Given the description of an element on the screen output the (x, y) to click on. 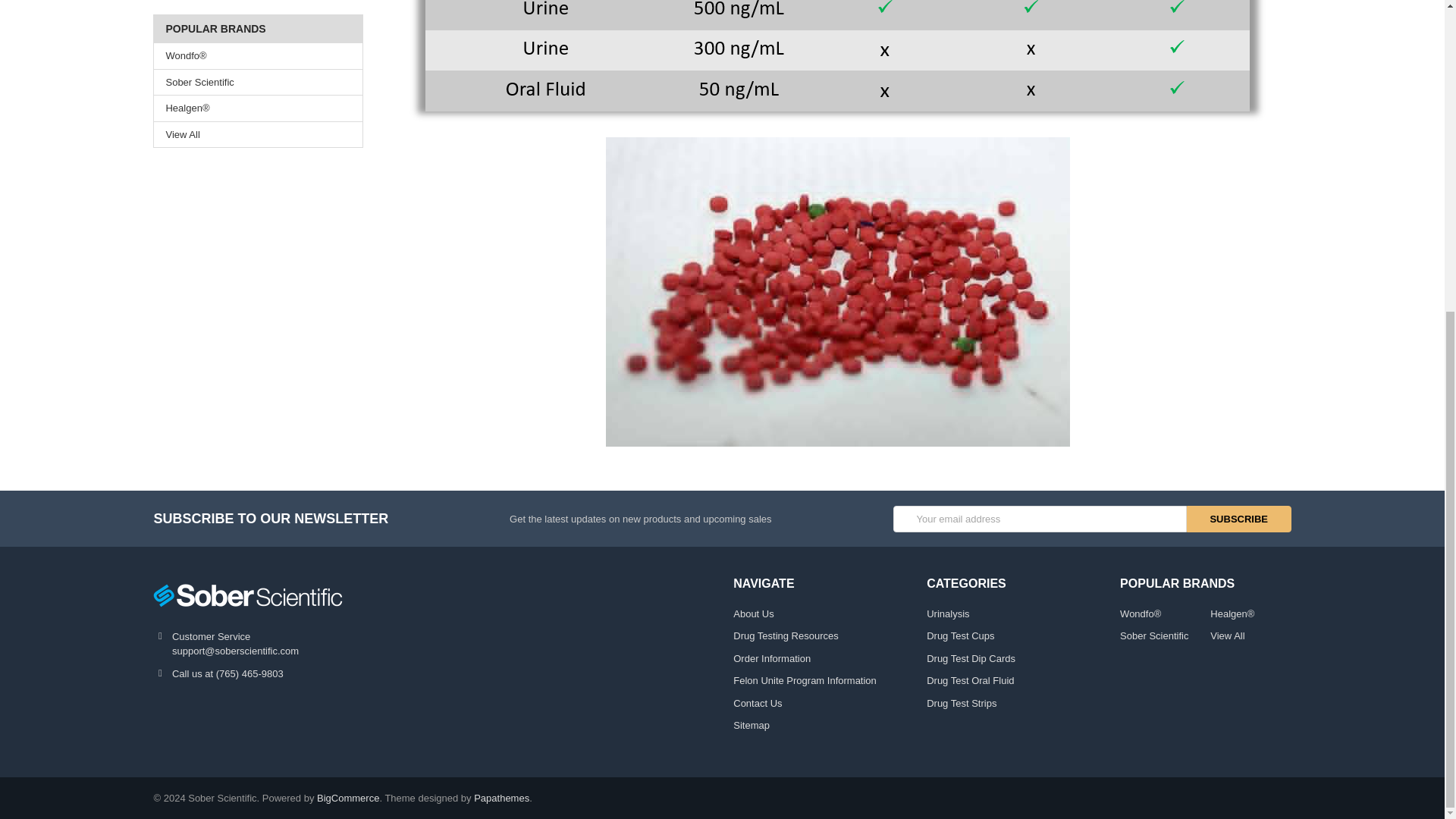
Subscribe (1238, 519)
amp-chart.png (837, 61)
Sober Scientific (257, 82)
Sober Scientific (247, 595)
